Given the description of an element on the screen output the (x, y) to click on. 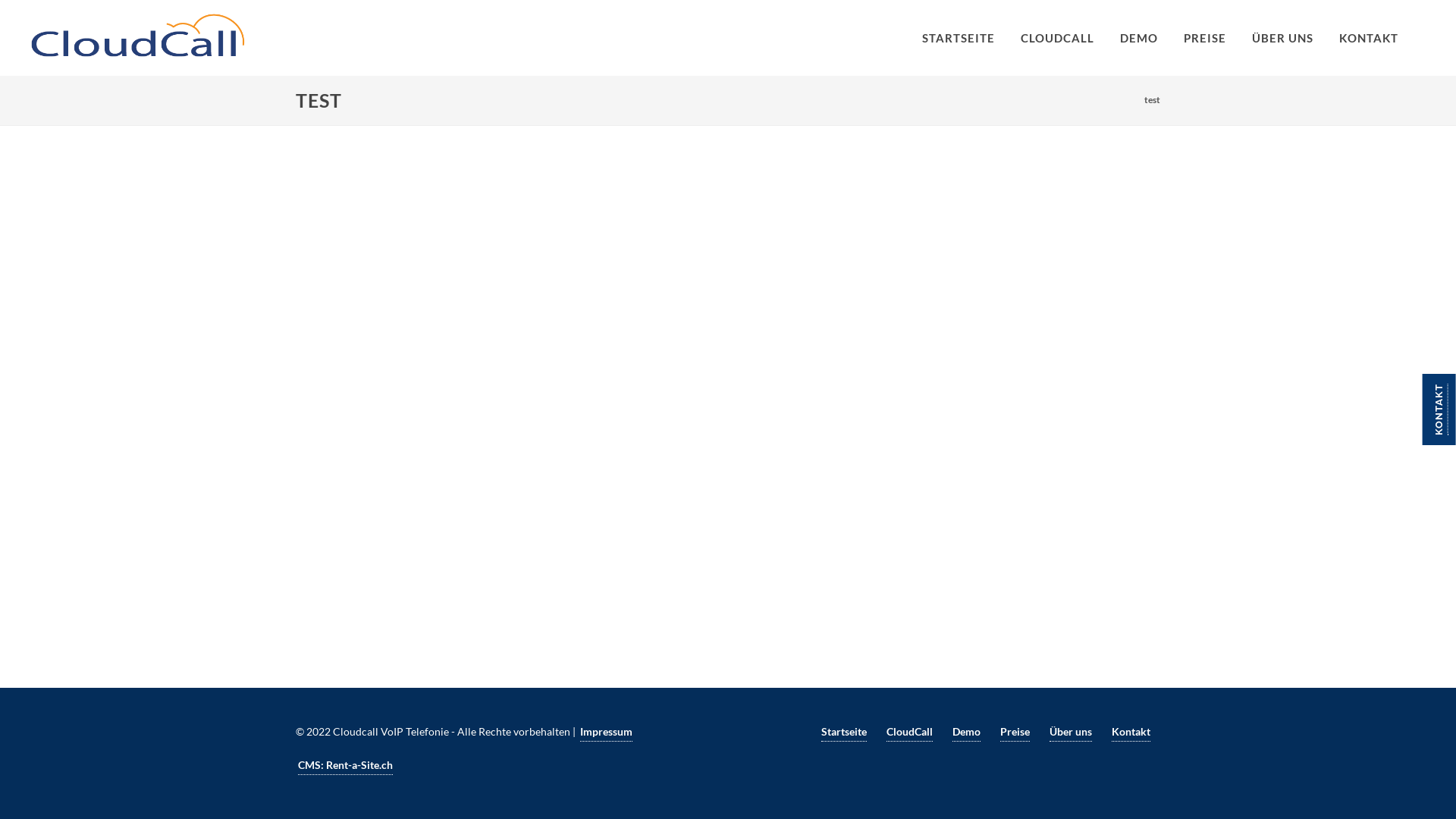
Demo Element type: text (966, 731)
Impressum Element type: text (606, 731)
CMS: Rent-a-Site.ch Element type: text (345, 765)
CloudCall Element type: text (909, 731)
STARTSEITE Element type: text (958, 37)
Preise Element type: text (1014, 731)
Startseite Element type: text (843, 731)
CLOUDCALL Element type: text (1057, 37)
test Element type: text (1152, 99)
DEMO Element type: text (1138, 37)
PREISE Element type: text (1204, 37)
KONTAKT Element type: text (1368, 37)
Kontakt Element type: text (1130, 731)
